Given the description of an element on the screen output the (x, y) to click on. 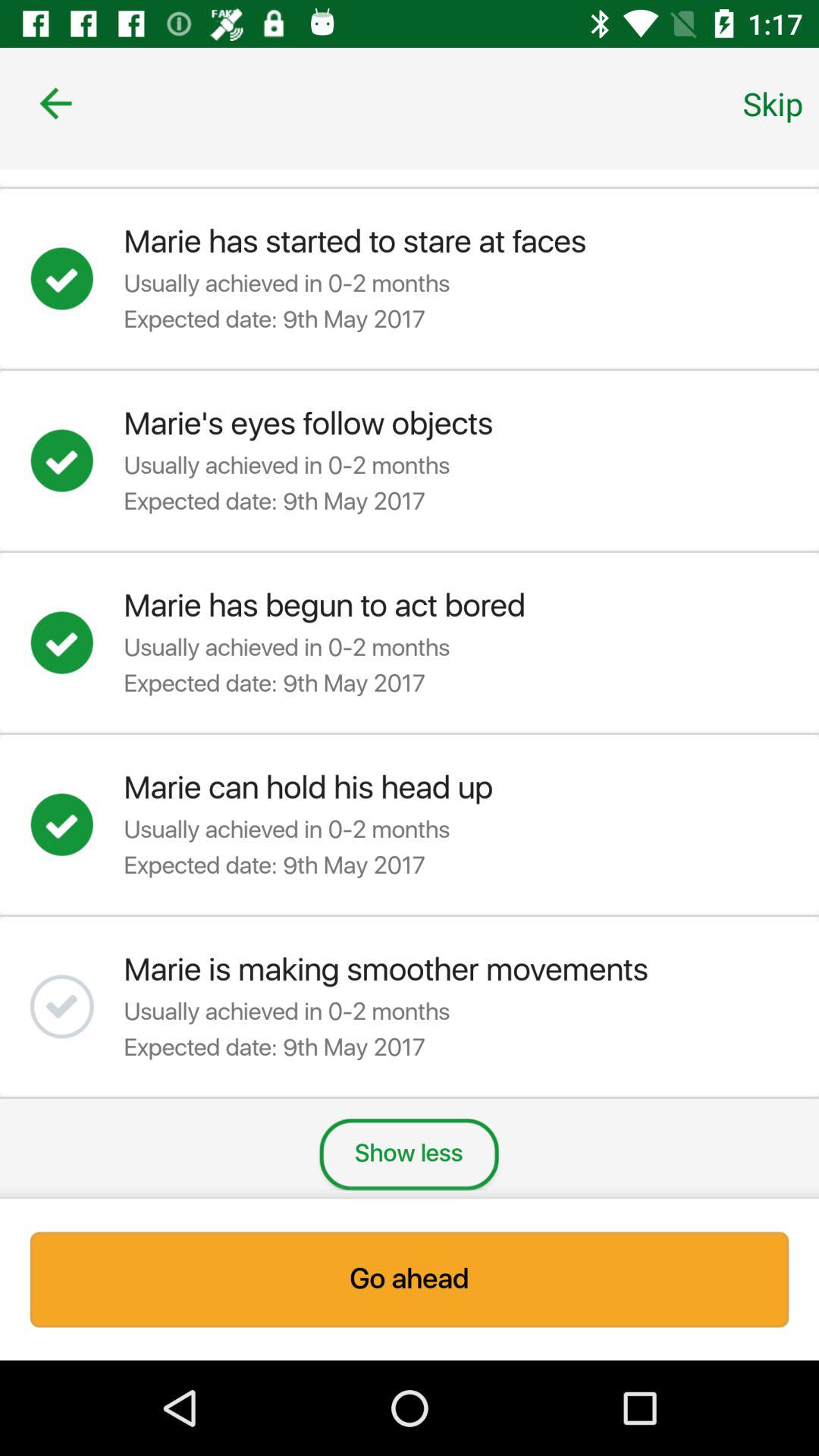
open item above go ahead icon (772, 103)
